Given the description of an element on the screen output the (x, y) to click on. 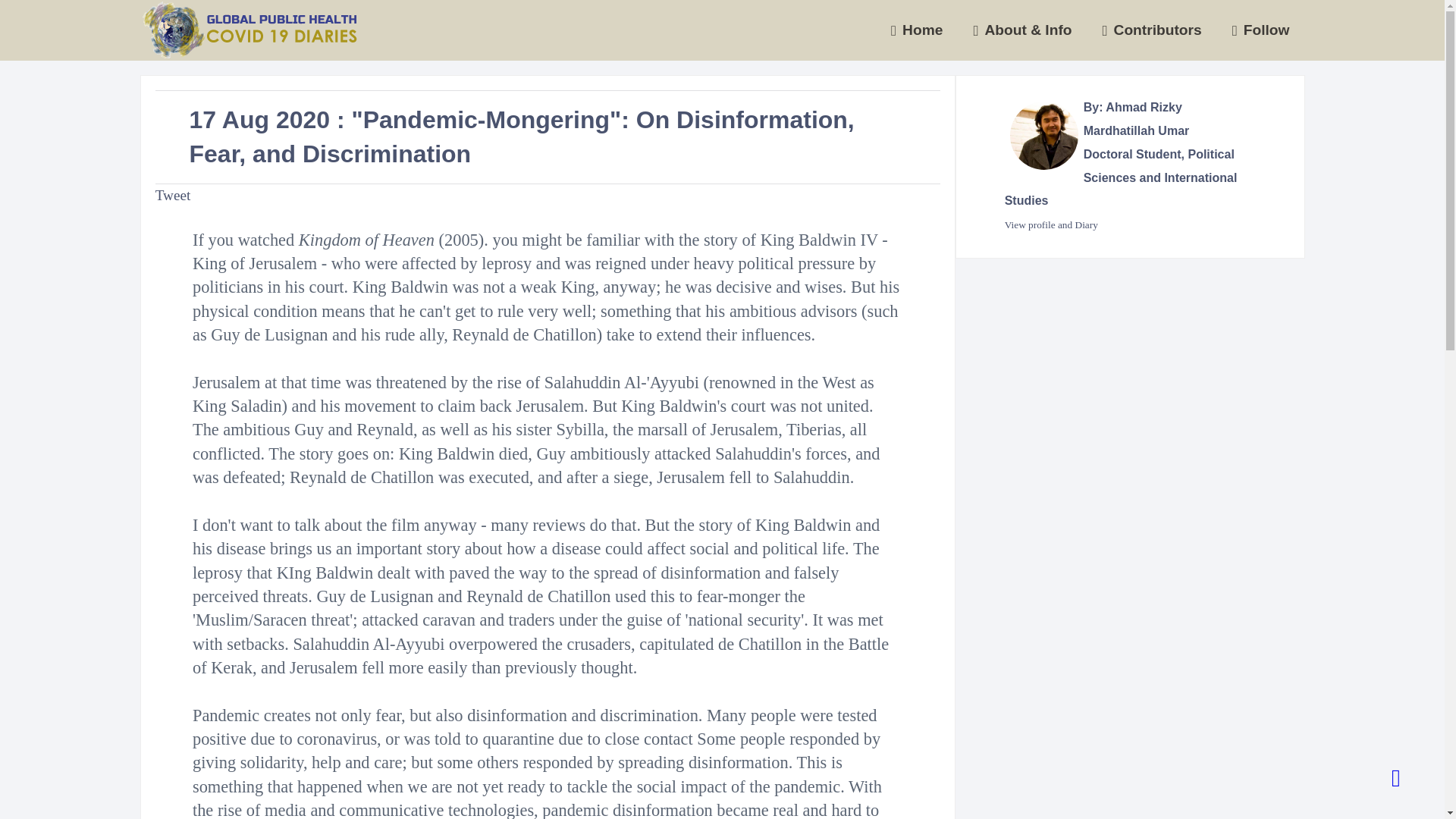
Tweet (172, 195)
Follow (1260, 30)
Home (917, 30)
Contributors (1152, 30)
View profile and Diary (1050, 224)
